Given the description of an element on the screen output the (x, y) to click on. 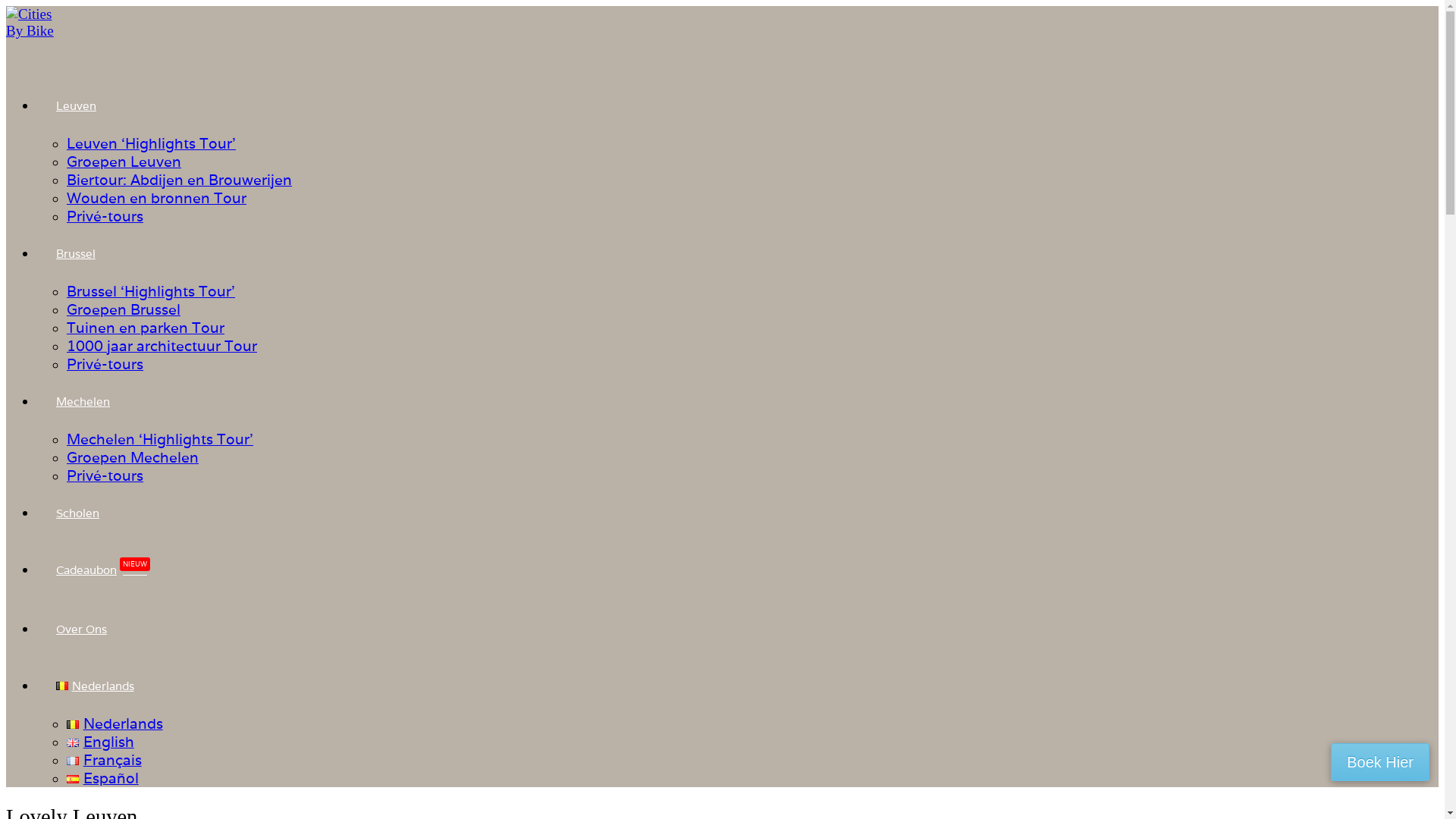
1000 jaar architectuur Tour Element type: text (161, 345)
English Element type: text (100, 741)
Tuinen en parken Tour Element type: text (145, 327)
Nederlands Element type: hover (62, 685)
Wouden en bronnen Tour Element type: text (156, 197)
CadeaubonNIEUW Element type: text (102, 569)
Groepen Leuven Element type: text (123, 161)
Scholen Element type: text (77, 512)
English Element type: hover (72, 742)
Leuven Element type: text (76, 105)
Biertour: Abdijen en Brouwerijen Element type: text (178, 179)
Nederlands Element type: hover (72, 724)
Boek Hier Element type: text (1379, 762)
Nederlands Element type: text (94, 685)
Groepen Mechelen Element type: text (132, 457)
Mechelen Element type: text (82, 401)
Brussel Element type: text (75, 253)
Nederlands Element type: text (114, 723)
Groepen Brussel Element type: text (123, 309)
Over Ons Element type: text (81, 628)
